Given the description of an element on the screen output the (x, y) to click on. 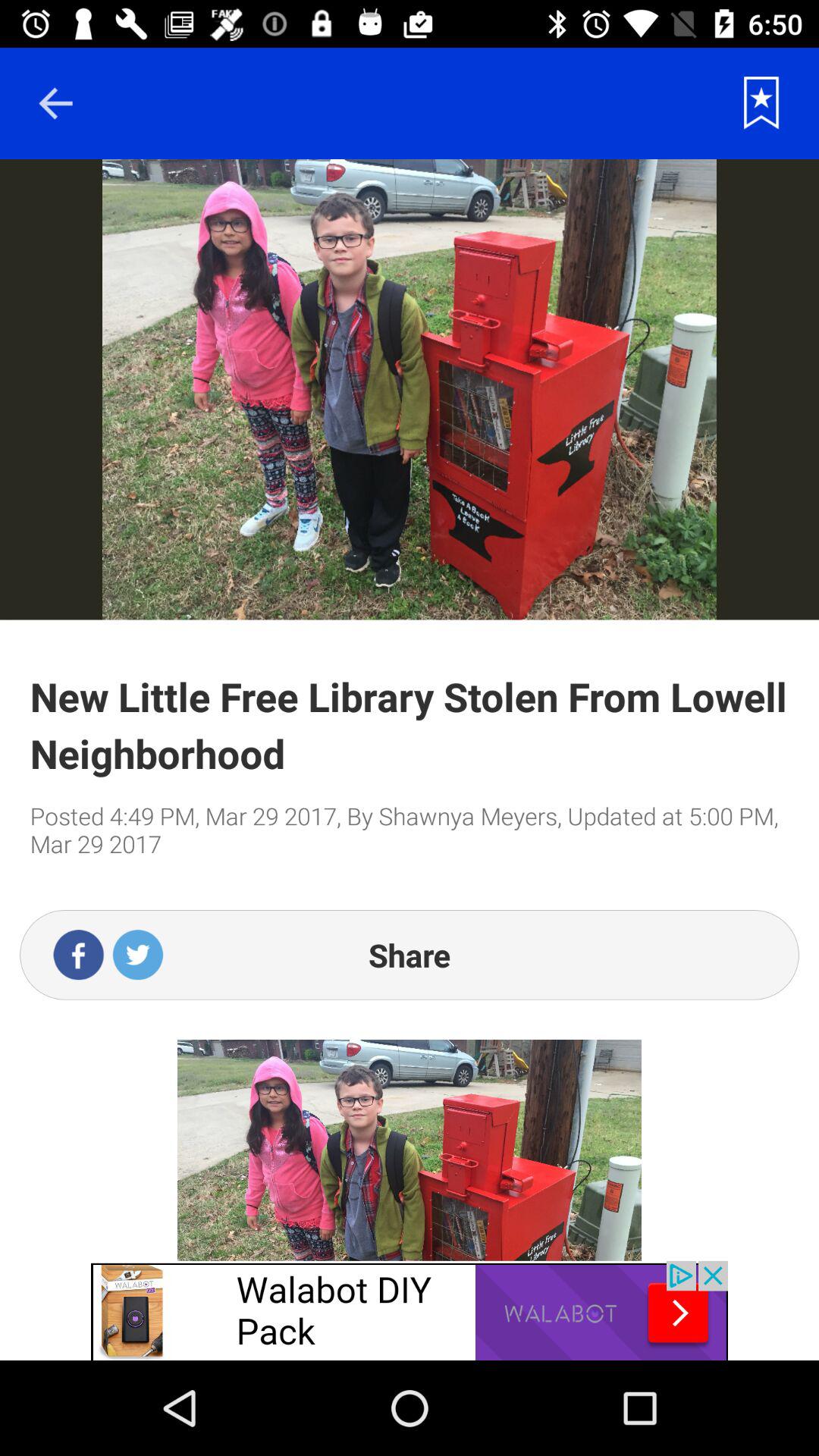
select option (761, 102)
